Given the description of an element on the screen output the (x, y) to click on. 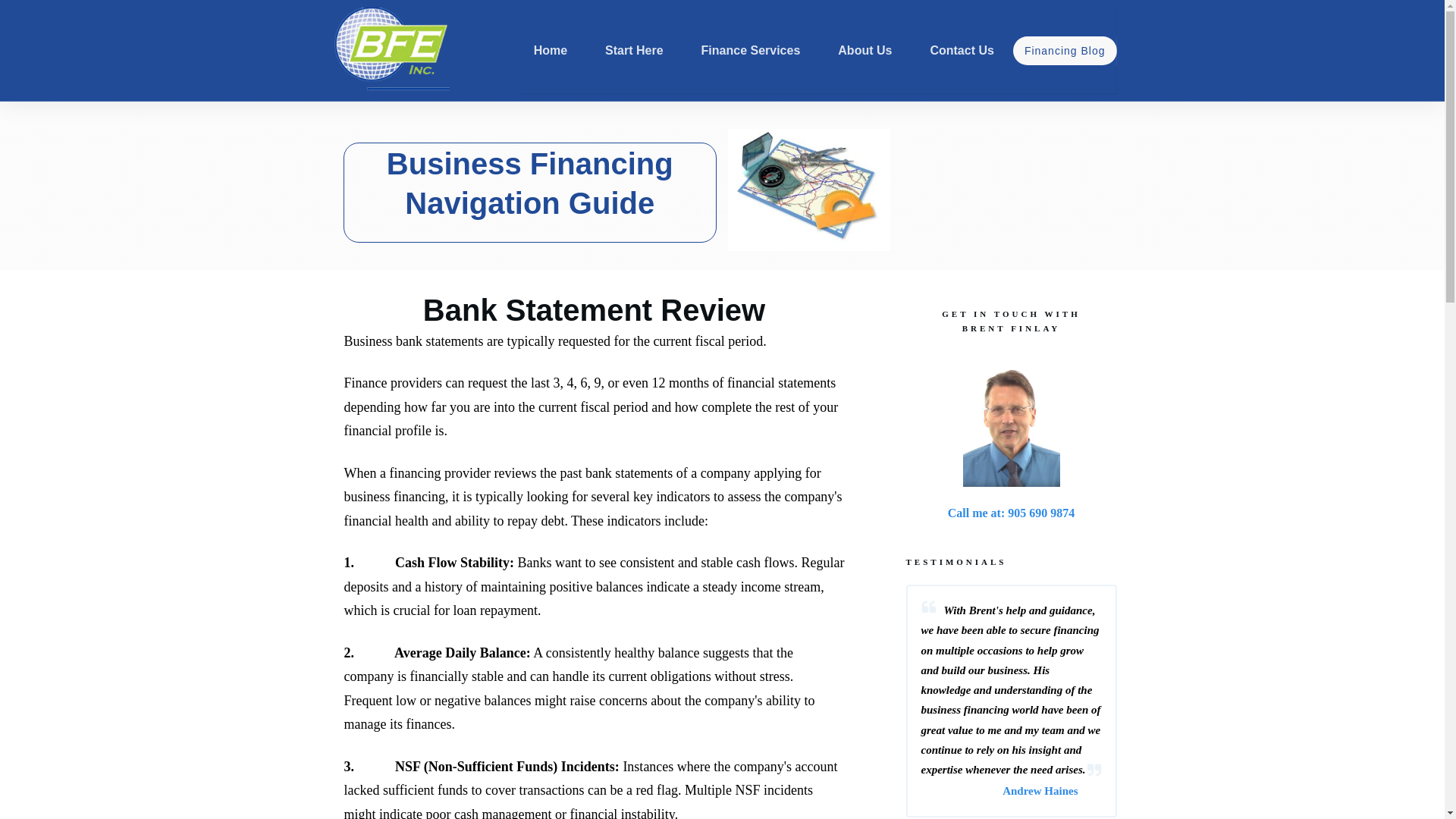
Start Here (633, 50)
commercial-finance (808, 189)
Financing Blog (1065, 50)
Contact Us (961, 50)
Finance Services (750, 50)
Home (550, 50)
About Us (864, 50)
